Given the description of an element on the screen output the (x, y) to click on. 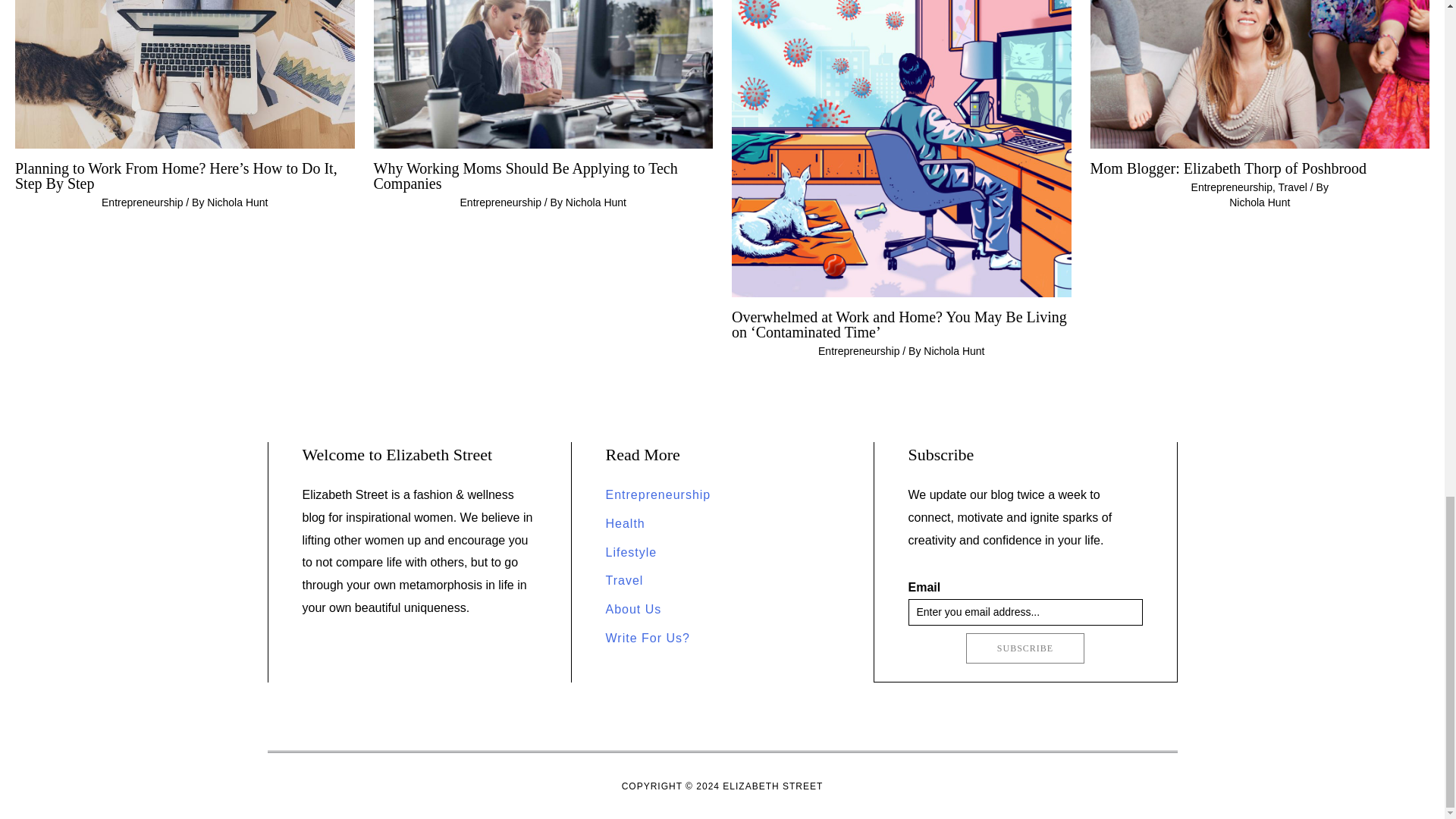
Lifestyle (630, 552)
Entrepreneurship (858, 350)
Entrepreneurship (500, 202)
View all posts by Nichola Hunt (1259, 202)
Nichola Hunt (1259, 202)
Nichola Hunt (236, 202)
View all posts by Nichola Hunt (953, 350)
Health (625, 522)
Why Working Moms Should Be Applying to Tech Companies (524, 175)
Nichola Hunt (953, 350)
About Us (633, 608)
Entrepreneurship (657, 494)
Travel (1292, 186)
Mom Blogger: Elizabeth Thorp of Poshbrood (1228, 167)
